Given the description of an element on the screen output the (x, y) to click on. 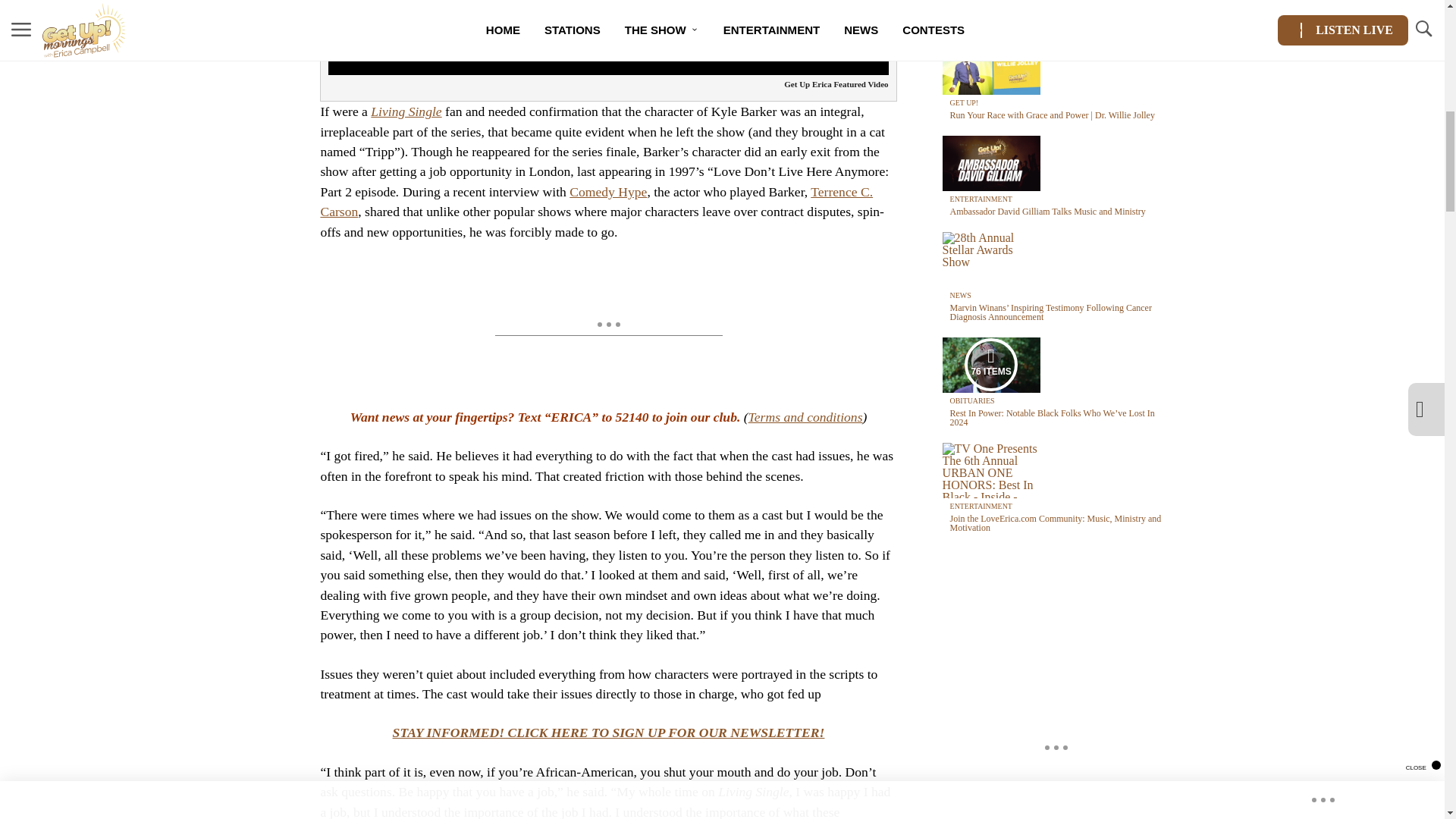
Media Playlist (990, 364)
STAY INFORMED! CLICK HERE TO SIGN UP FOR OUR NEWSLETTER! (609, 732)
Terms and conditions (805, 417)
Terrence C. Carson (596, 201)
Comedy Hype (607, 191)
Living Single (406, 111)
